Given the description of an element on the screen output the (x, y) to click on. 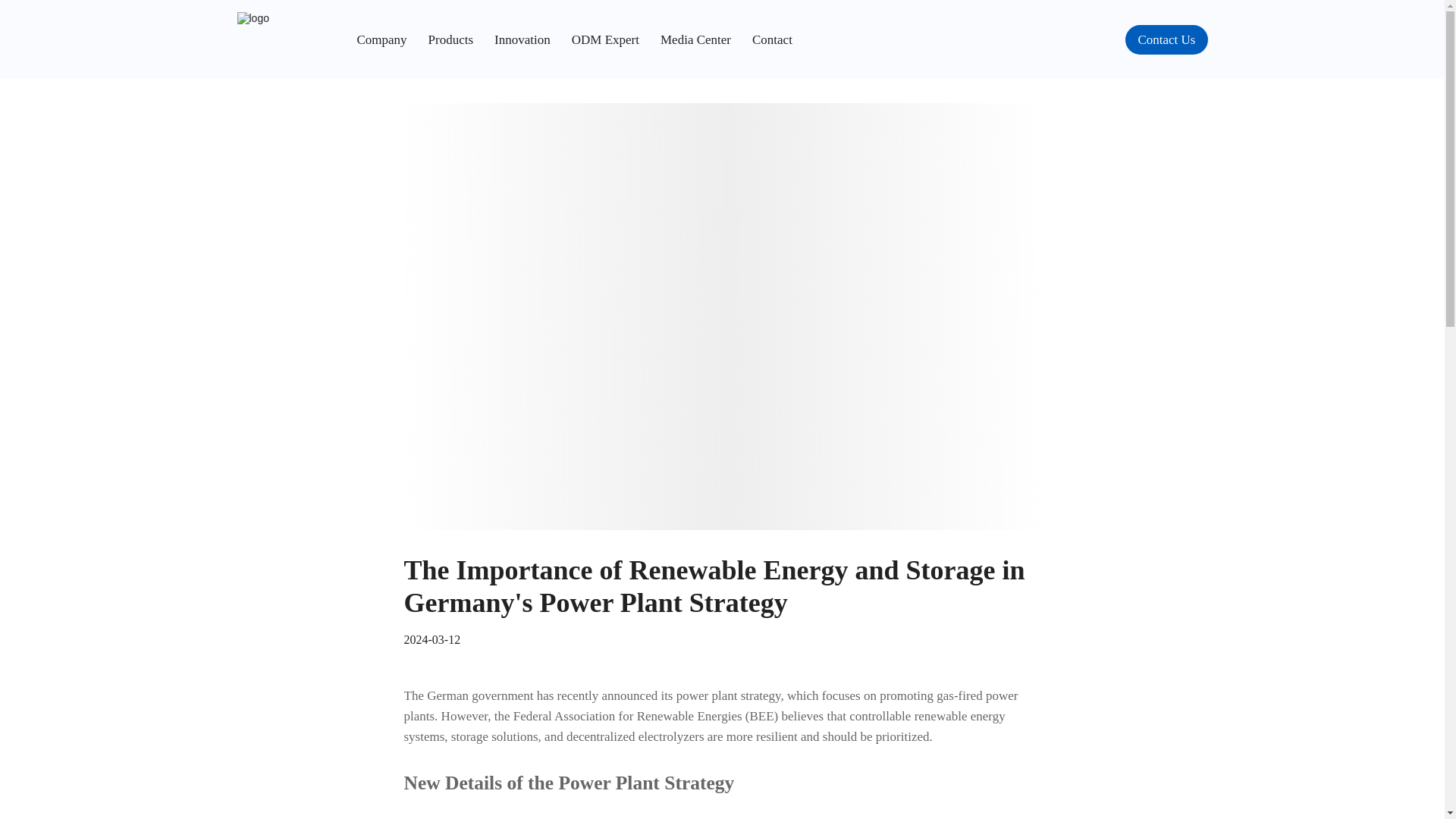
Contact (772, 41)
ODM Expert (616, 41)
Media Center (706, 41)
Innovation (533, 41)
Products (461, 41)
Company (392, 41)
